Given the description of an element on the screen output the (x, y) to click on. 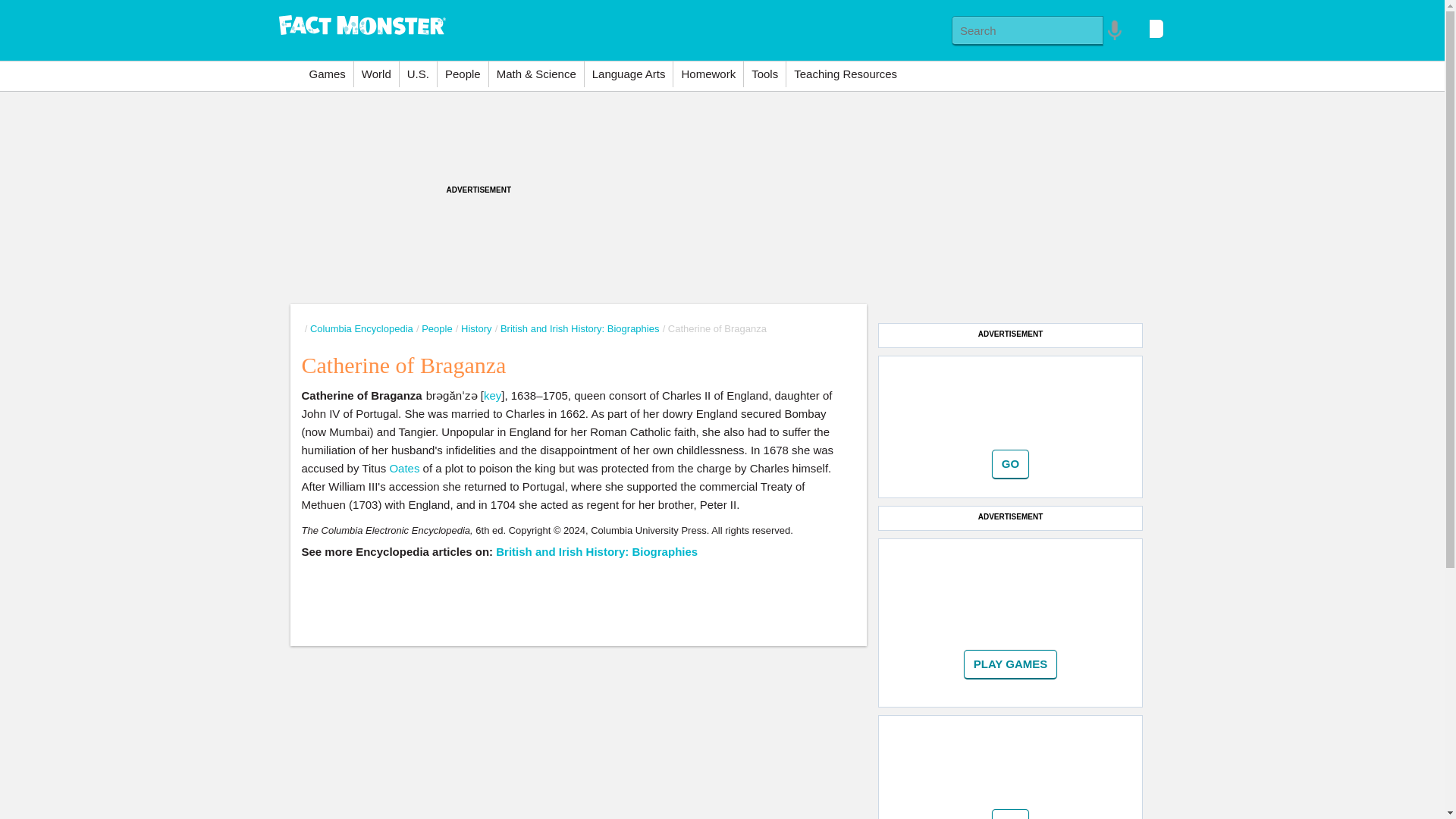
Go (1010, 664)
World (375, 73)
U.S. (417, 73)
Home (362, 22)
Enter the terms you wish to search for. (1027, 30)
Go (1010, 464)
Play Games (1010, 664)
Visit our teacher resource sister site! (845, 73)
Go (1010, 464)
Go (1010, 814)
Games (327, 73)
Go (1010, 814)
